Given the description of an element on the screen output the (x, y) to click on. 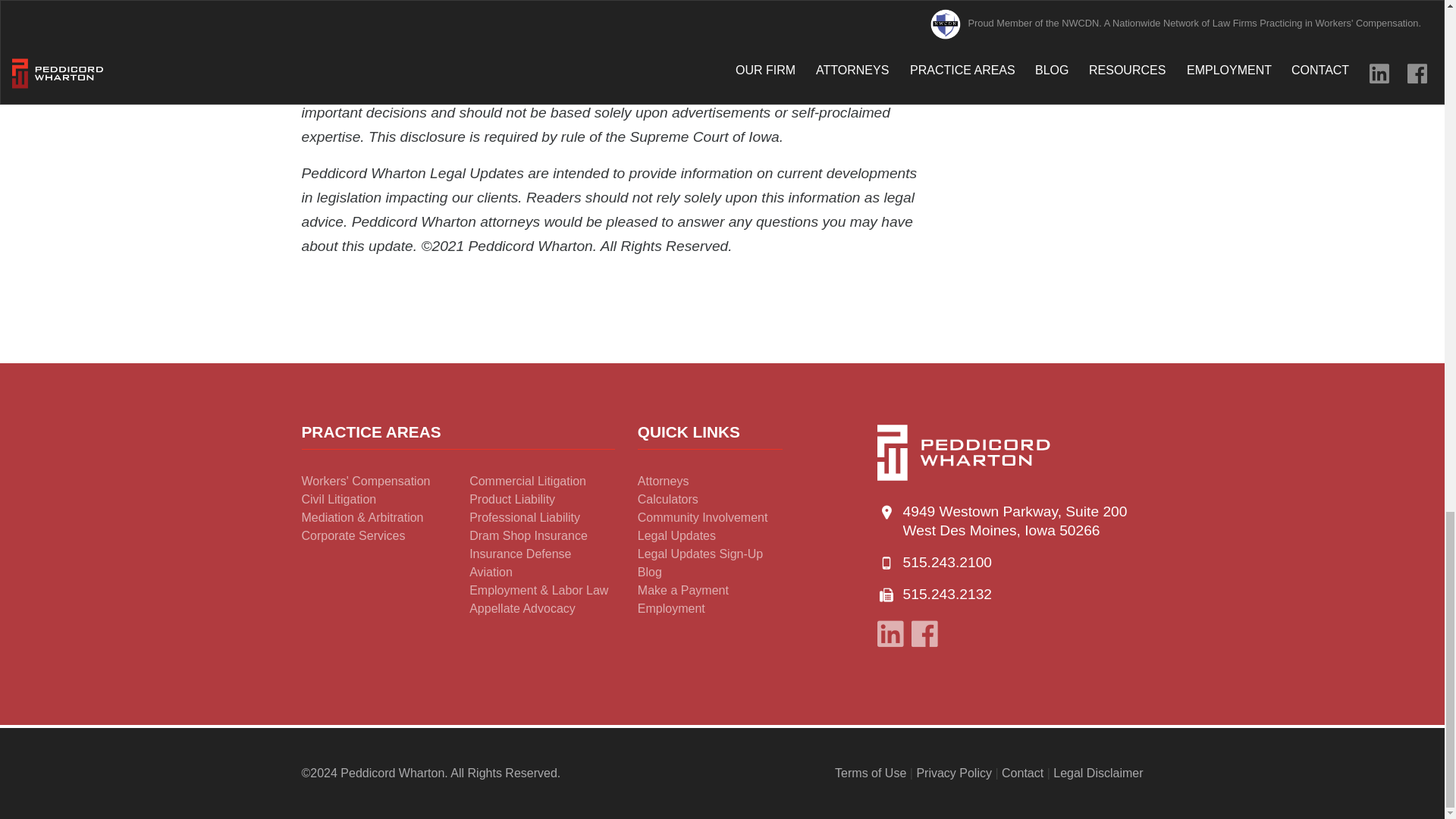
Community Involvement (702, 517)
Corporate Services (353, 535)
Product Liability (511, 499)
Legal Updates (676, 535)
Dram Shop Insurance (528, 535)
Civil Litigation (339, 499)
Insurance Defense (519, 553)
Workers' Compensation (365, 481)
Aviation (490, 571)
Appellate Advocacy (521, 608)
